Given the description of an element on the screen output the (x, y) to click on. 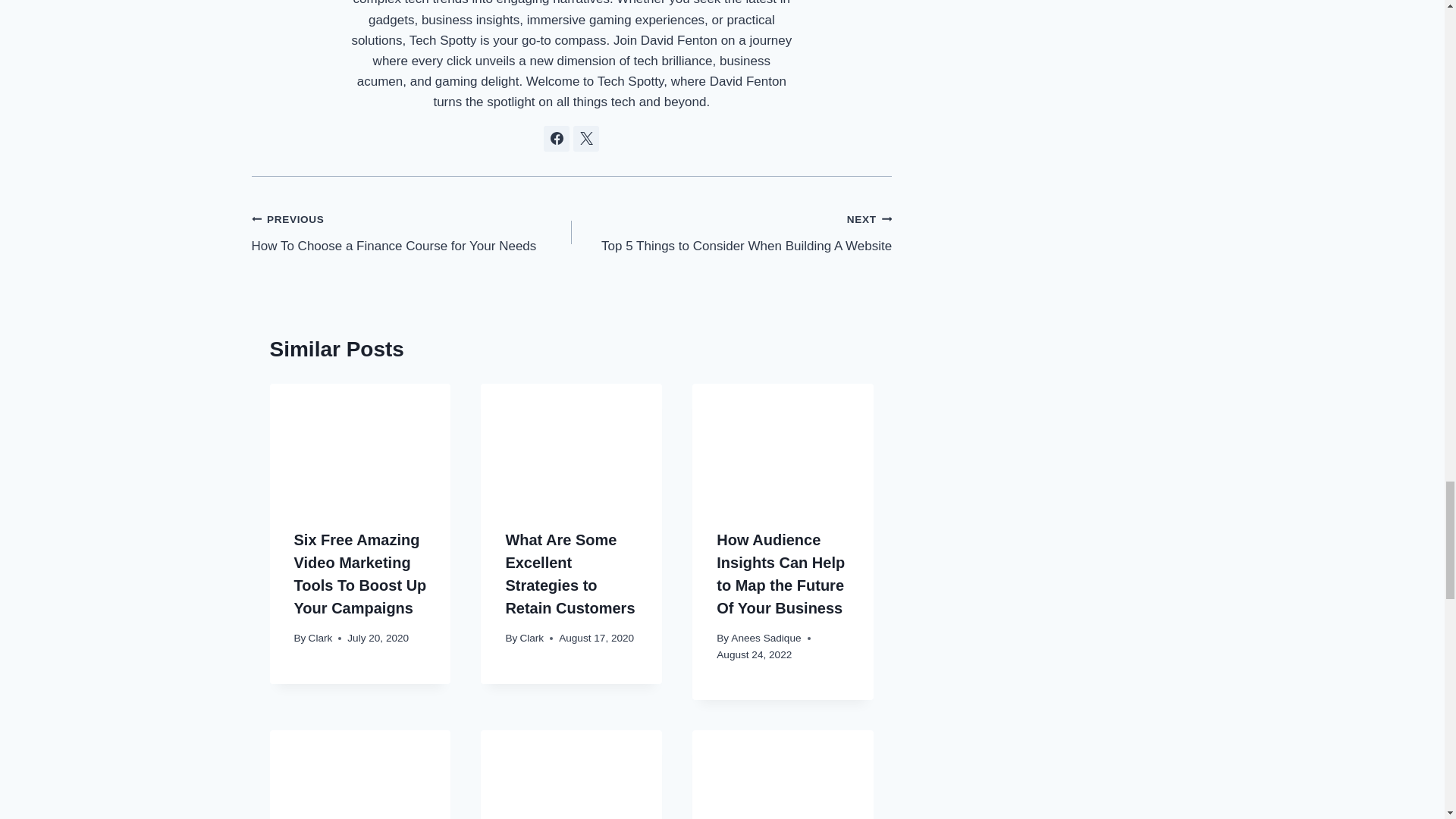
Analytical Reasoning (571, 444)
Follow David Fenton on Facebook (556, 138)
Follow David Fenton on X formerly Twitter (585, 138)
Analytical Reasoning (360, 774)
Analytical Reasoning (783, 774)
Analytical Reasoning (360, 444)
Analytical Reasoning (571, 774)
Analytical Reasoning (783, 444)
